Given the description of an element on the screen output the (x, y) to click on. 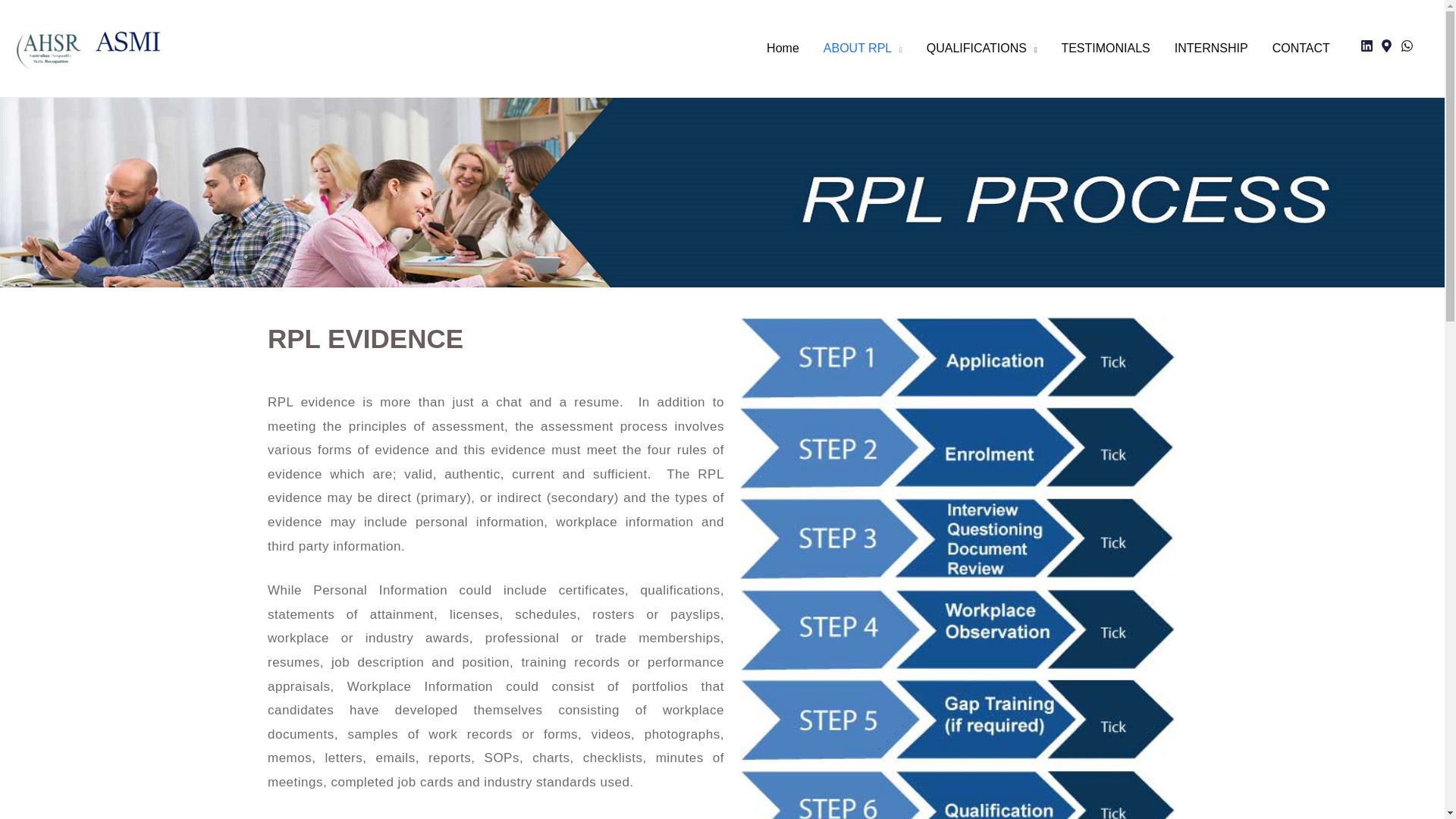
INTERNSHIP (1210, 48)
Home (782, 48)
QUALIFICATIONS (981, 48)
ABOUT RPL (862, 48)
TESTIMONIALS (1104, 48)
CONTACT (1301, 48)
